Given the description of an element on the screen output the (x, y) to click on. 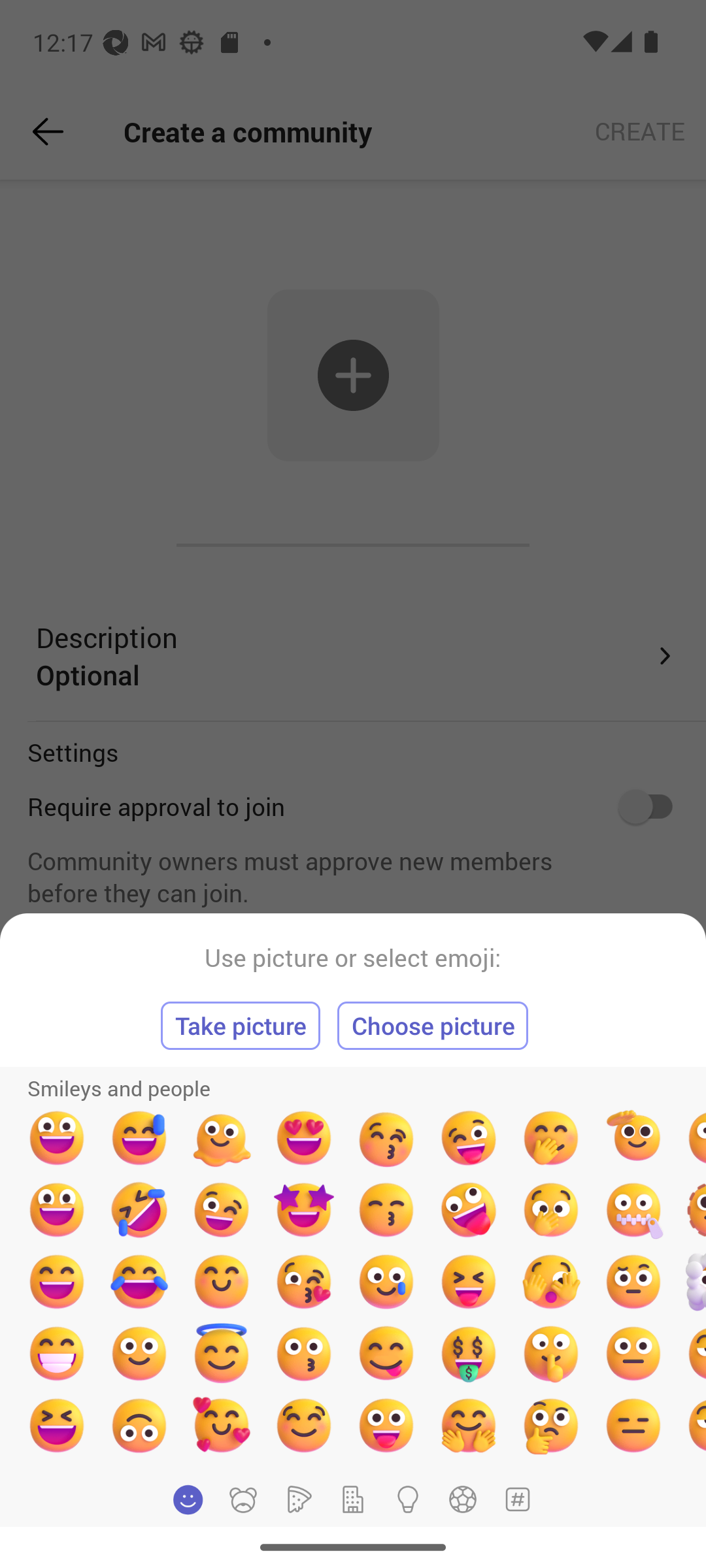
Take picture (240, 1025)
Choose picture (432, 1025)
Grinning face with big eyes emoji (56, 1138)
Sweat grinning emoji (139, 1138)
Melting face emoji (221, 1138)
Heart eyes emoji (303, 1138)
Kissing face with closed eyes emoji (386, 1138)
Winking tongue out emoji (468, 1138)
Giggle emoji (550, 1138)
Saluting face emoji (633, 1138)
Happy face emoji (56, 1210)
Rolling on the floor laughing emoji (139, 1210)
Wink emoji (221, 1210)
Star eyes emoji (303, 1210)
Kissing face with smiling eyes emoji (386, 1210)
Zany face emoji (468, 1210)
Hand over mouth emoji (550, 1210)
Zipper mouth face emoji (633, 1210)
Grinning face with smiling eyes emoji (56, 1281)
Crying with laughter emoji (139, 1281)
Smile eyes emoji (221, 1281)
Face blowing a kiss emoji (303, 1281)
Smiling face with tear emoji (386, 1281)
Squinting face with tongue emoji (468, 1281)
Peeking eye emoji (550, 1281)
Wondering emoji (633, 1281)
Beaming face with smiling eyes emoji (56, 1353)
Smile emoji (139, 1353)
Angel emoji (221, 1353)
Kiss emoji (303, 1353)
Cheeky emoji (386, 1353)
Money mouth face emoji (468, 1353)
My lips are sealed emoji (550, 1353)
Speechless emoji (633, 1353)
Laugh emoji (56, 1425)
Upside down face emoji (139, 1425)
In love emoji (221, 1425)
Mmmmm… emoji (303, 1425)
Face with tongue emoji (386, 1425)
Hugging face emoji (468, 1425)
Thinking emoji (550, 1425)
Expressionless emoji (633, 1425)
Smileys and people, selected (188, 1499)
Animals, not selected (243, 1499)
Food, not selected (297, 1499)
Travel and places, not selected (352, 1499)
Objects, not selected (407, 1499)
Activities, not selected (462, 1499)
Symbols, not selected (517, 1499)
